Given the description of an element on the screen output the (x, y) to click on. 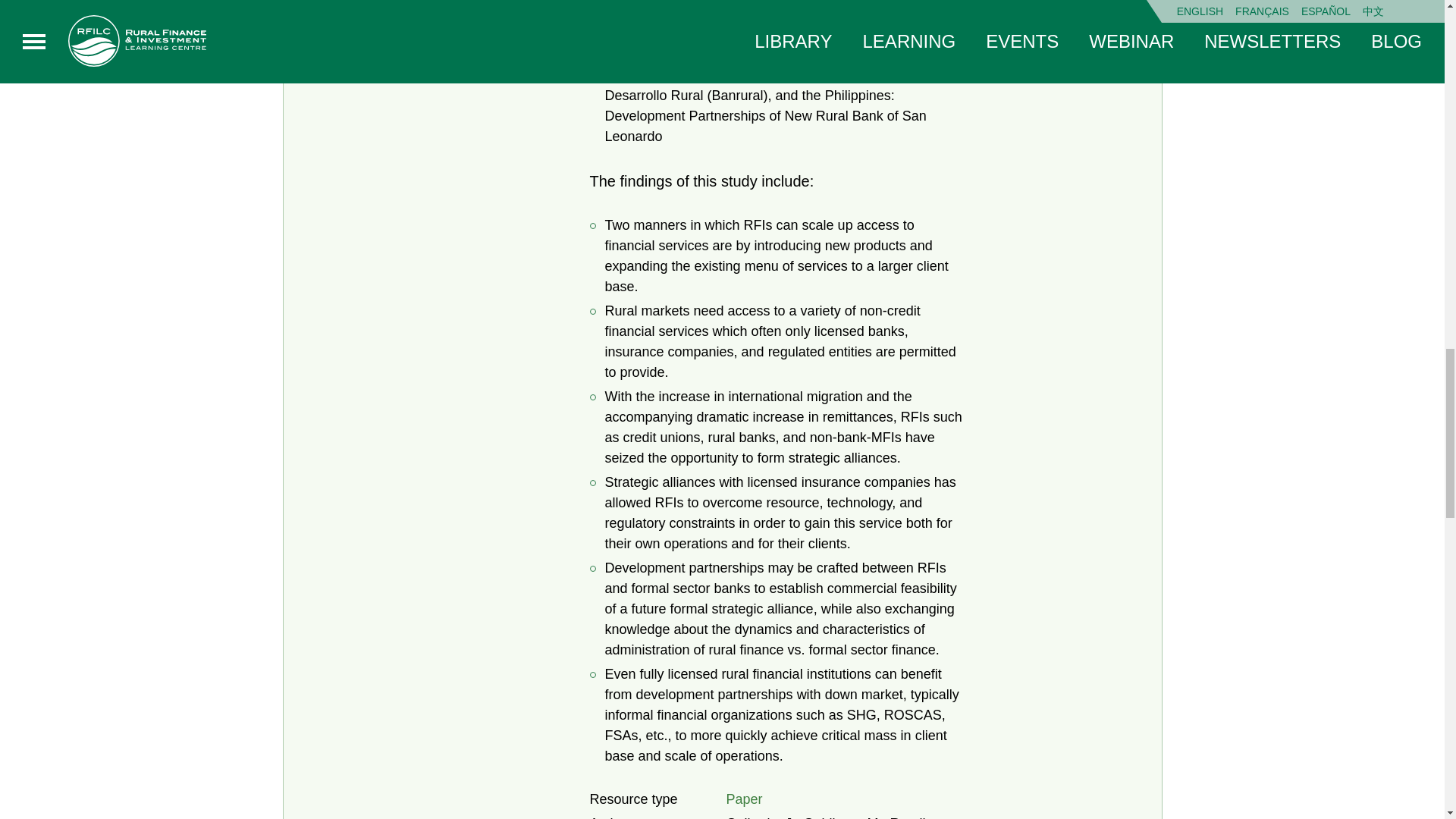
Paper (744, 798)
